Given the description of an element on the screen output the (x, y) to click on. 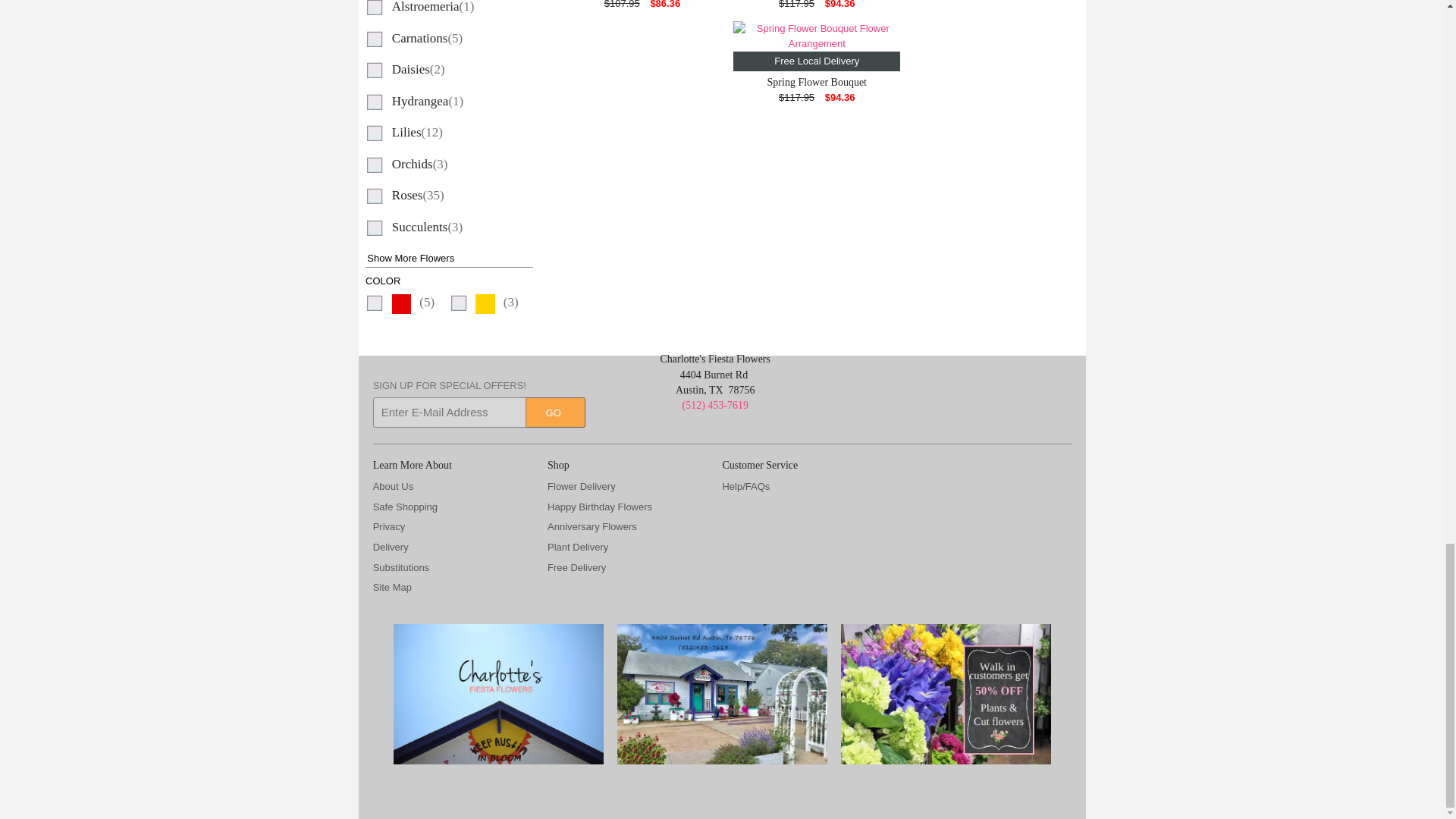
go (555, 412)
Email Sign up (448, 412)
Go (555, 412)
